Given the description of an element on the screen output the (x, y) to click on. 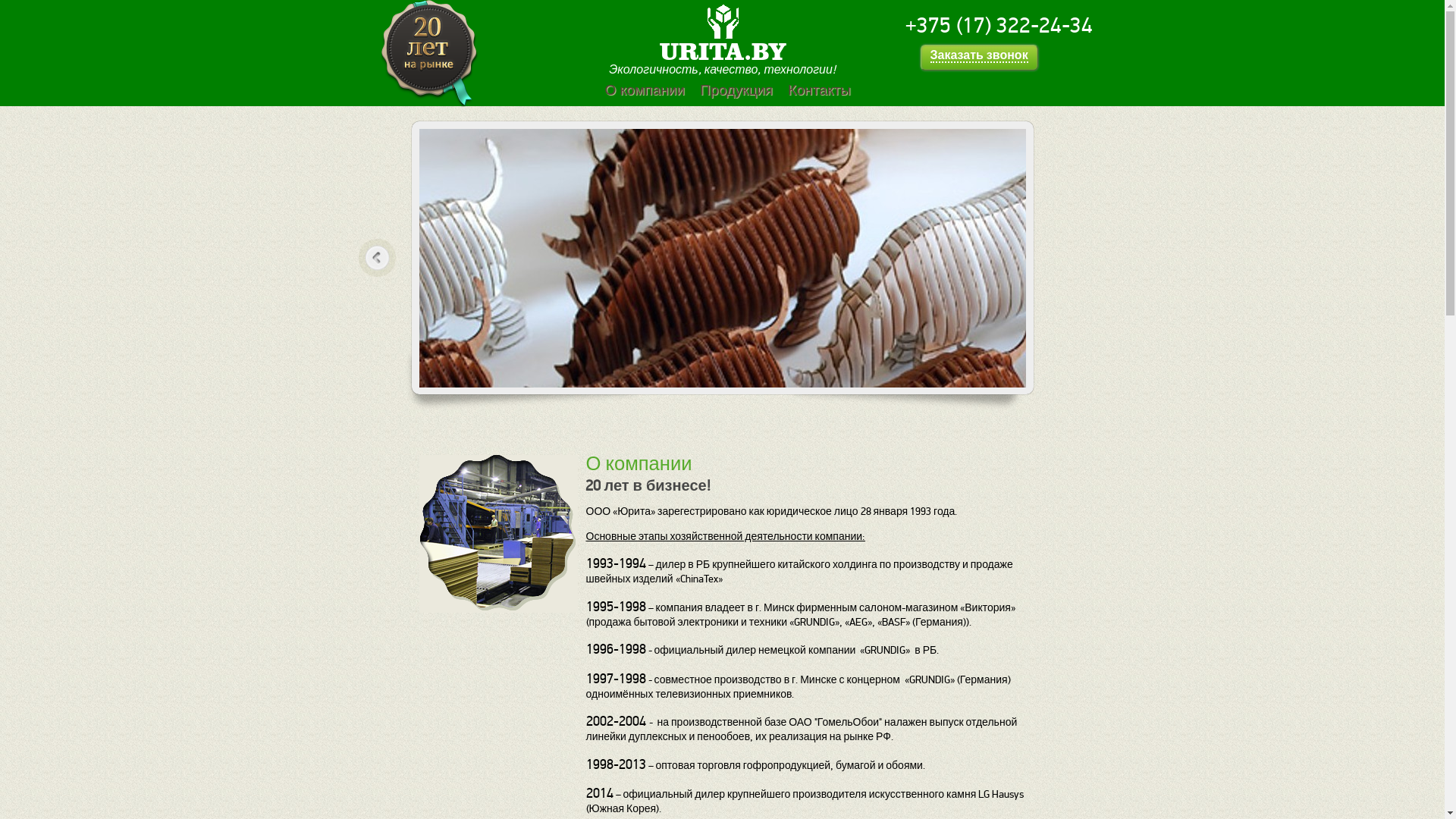
URITA.BY Element type: text (722, 50)
